Given the description of an element on the screen output the (x, y) to click on. 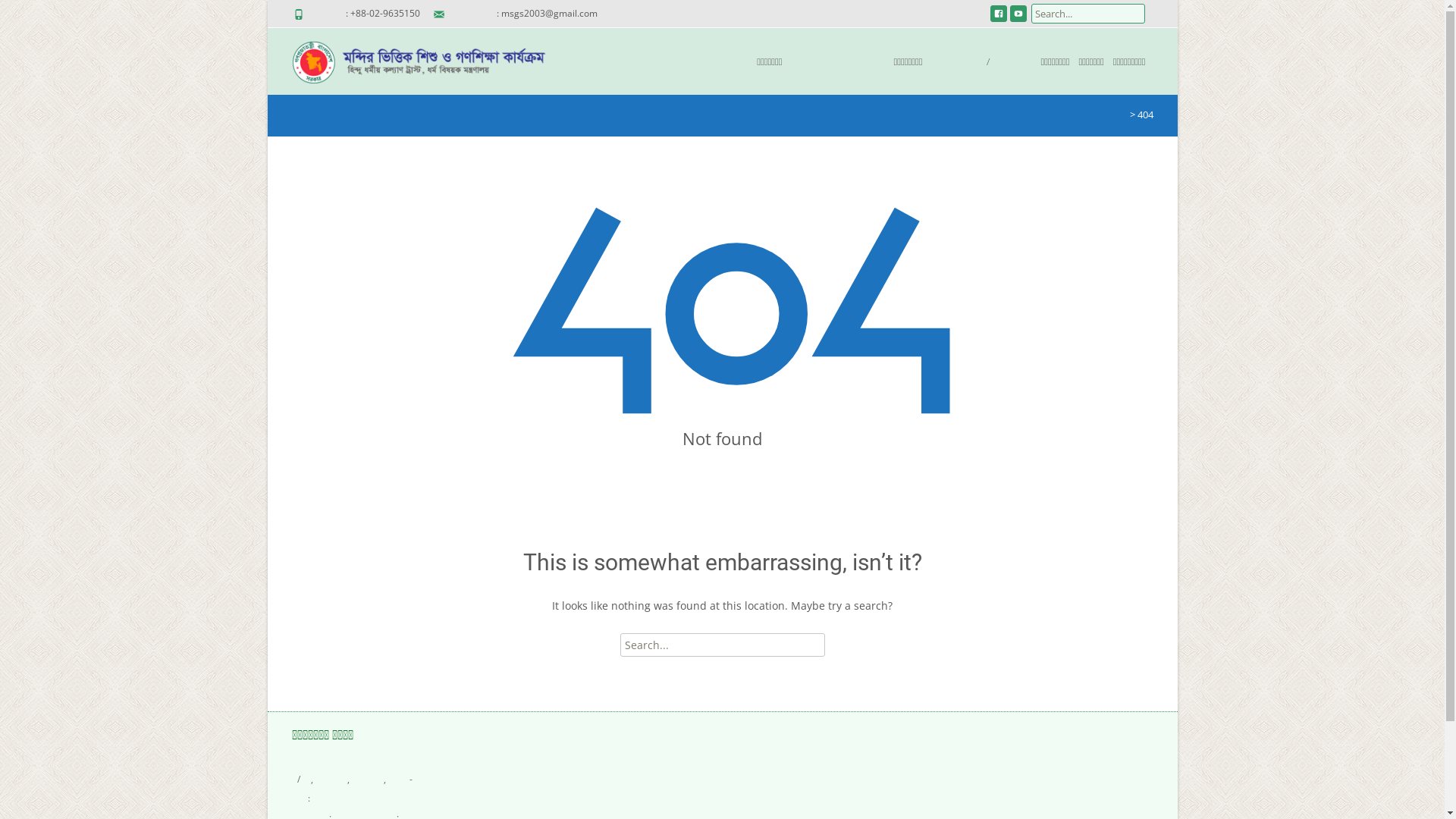
facebook Element type: hover (998, 18)
Skip to content Element type: text (629, 37)
Search for: Element type: hover (1088, 13)
Search for: Element type: hover (722, 644)
Search Element type: text (35, 15)
youtube Element type: hover (1018, 18)
